Given the description of an element on the screen output the (x, y) to click on. 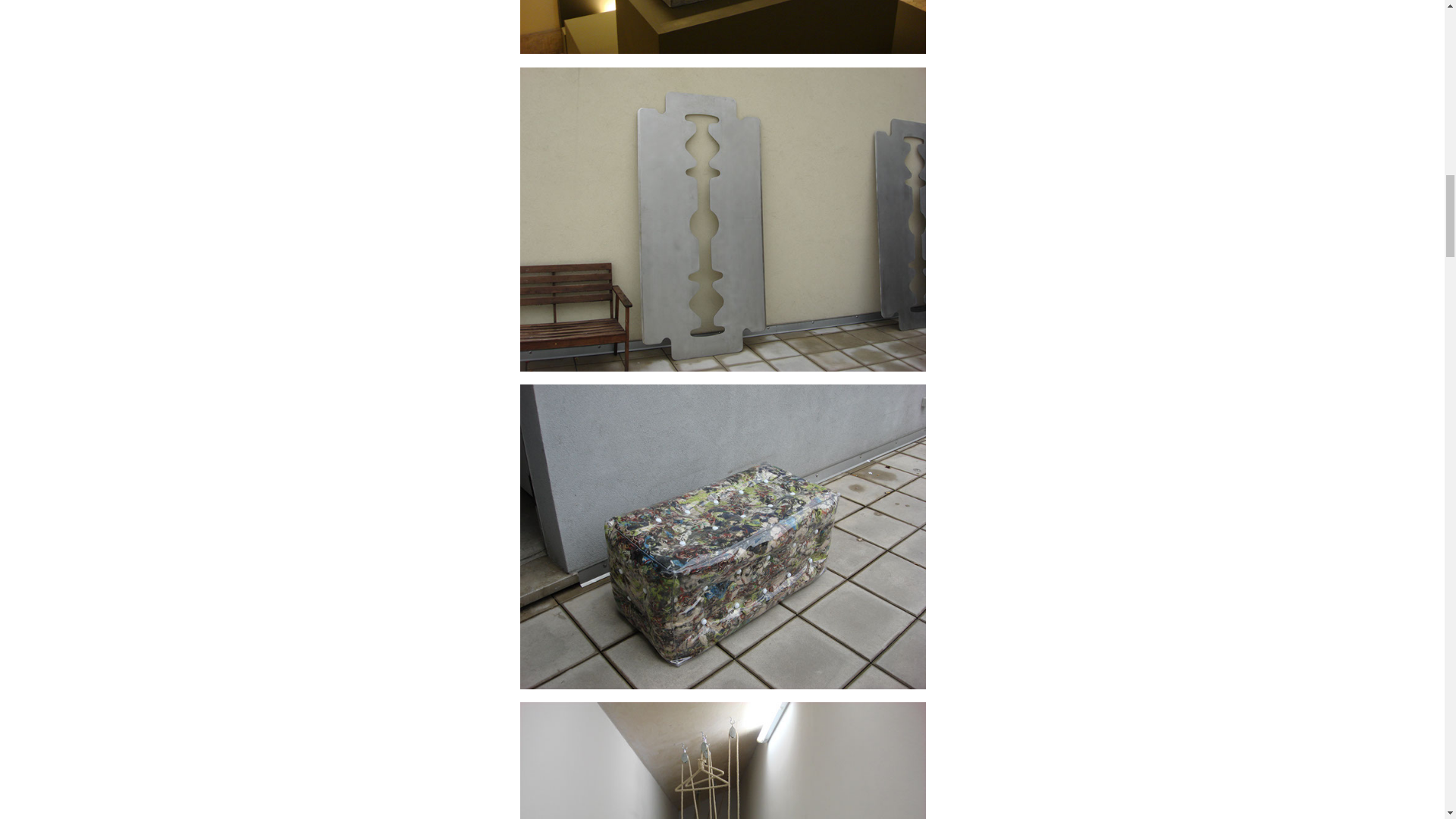
G2Art inspiration image 4 (722, 27)
G2Art inspiration image 7 (722, 760)
G2Art inspiration image 5 (722, 219)
G2Art inspiration image 6 (722, 536)
